Given the description of an element on the screen output the (x, y) to click on. 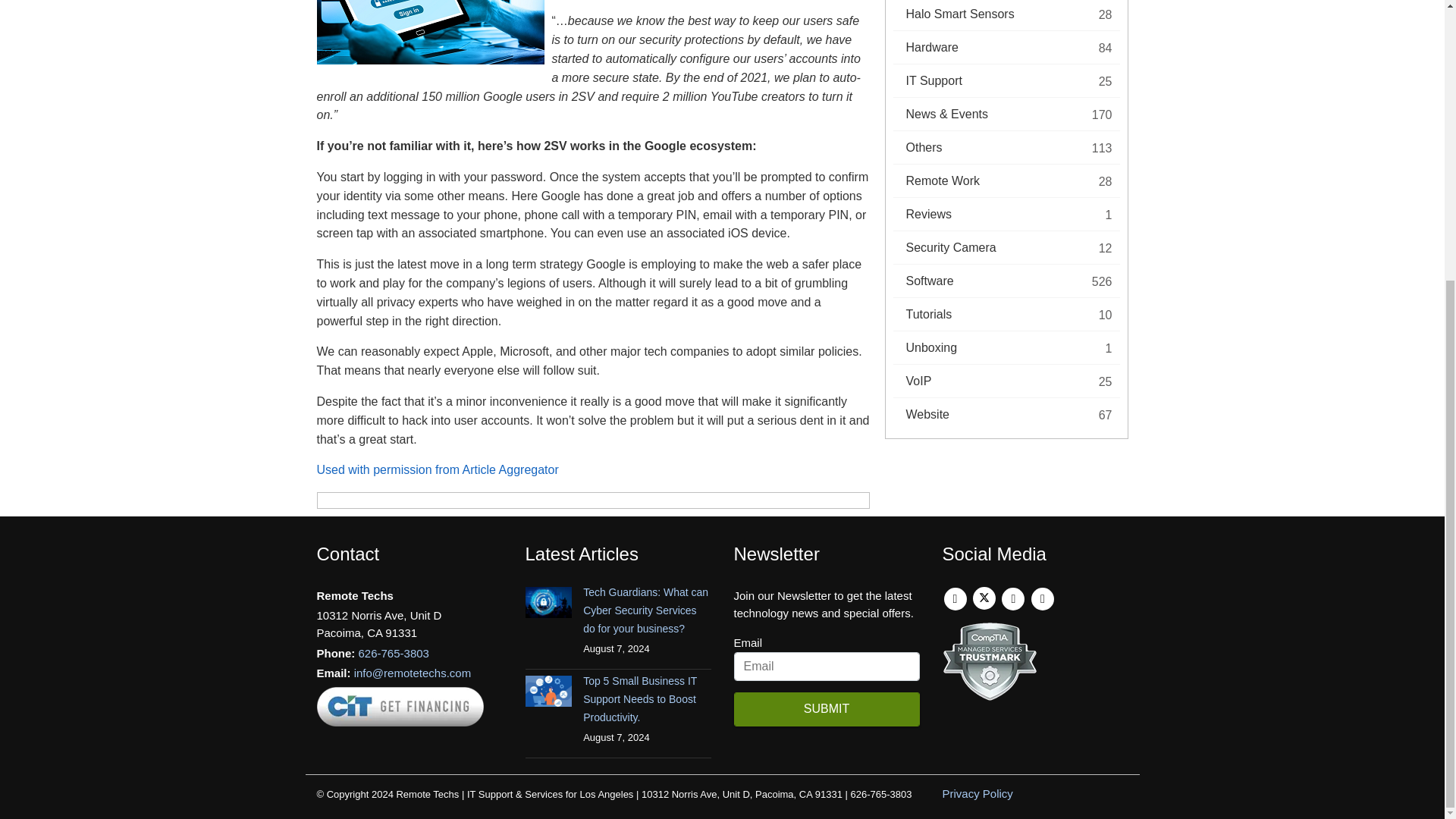
Submit (826, 709)
instagram (1042, 598)
linkedin (1013, 598)
facebook (955, 598)
twitter (984, 598)
